Given the description of an element on the screen output the (x, y) to click on. 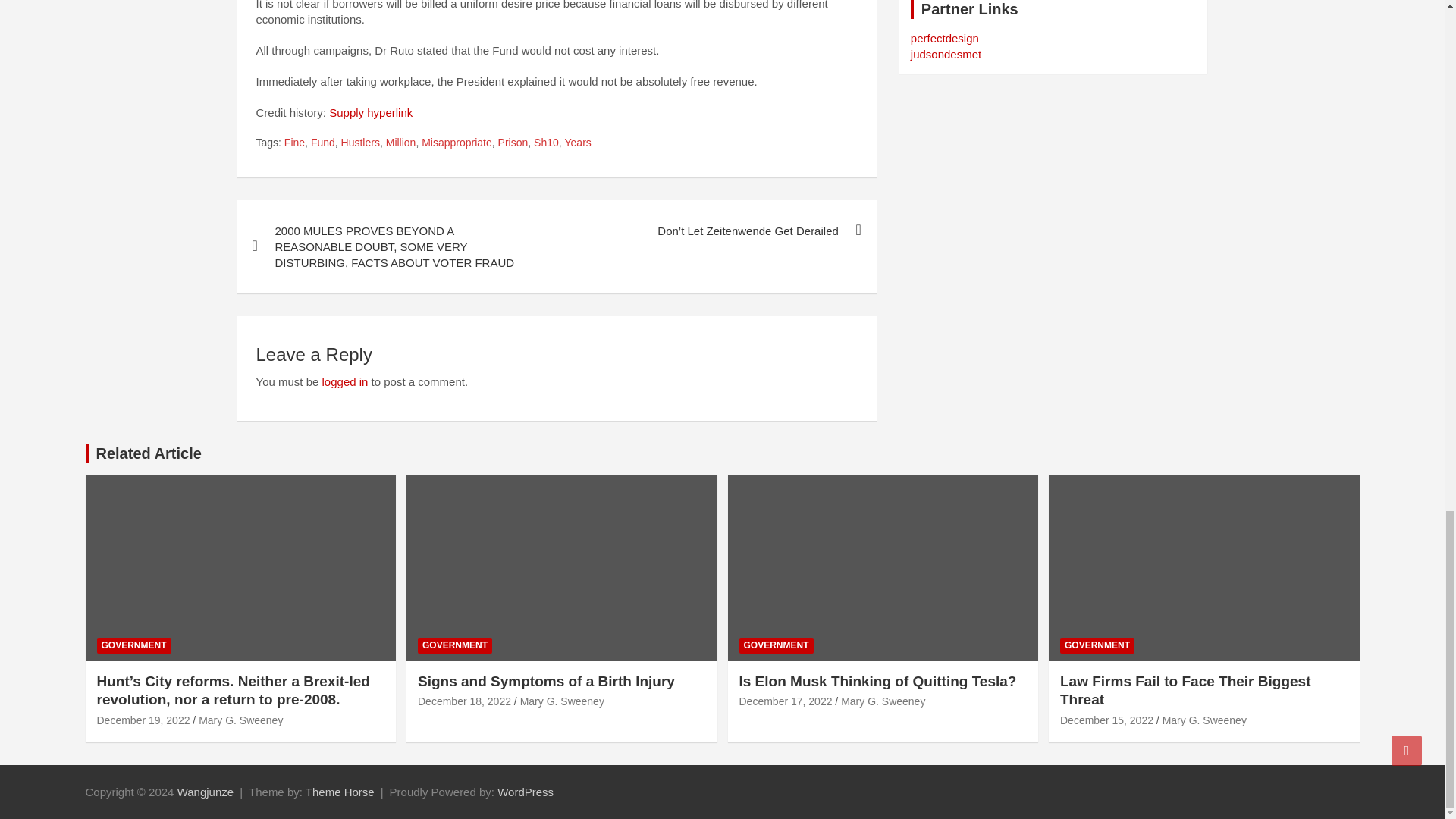
Hustlers (360, 142)
Sh10 (546, 142)
WordPress (525, 791)
Prison (512, 142)
Theme Horse (339, 791)
logged in (344, 381)
Wangjunze (205, 791)
Supply hyperlink (370, 112)
Million (400, 142)
Signs and Symptoms of a Birth Injury (464, 701)
